Given the description of an element on the screen output the (x, y) to click on. 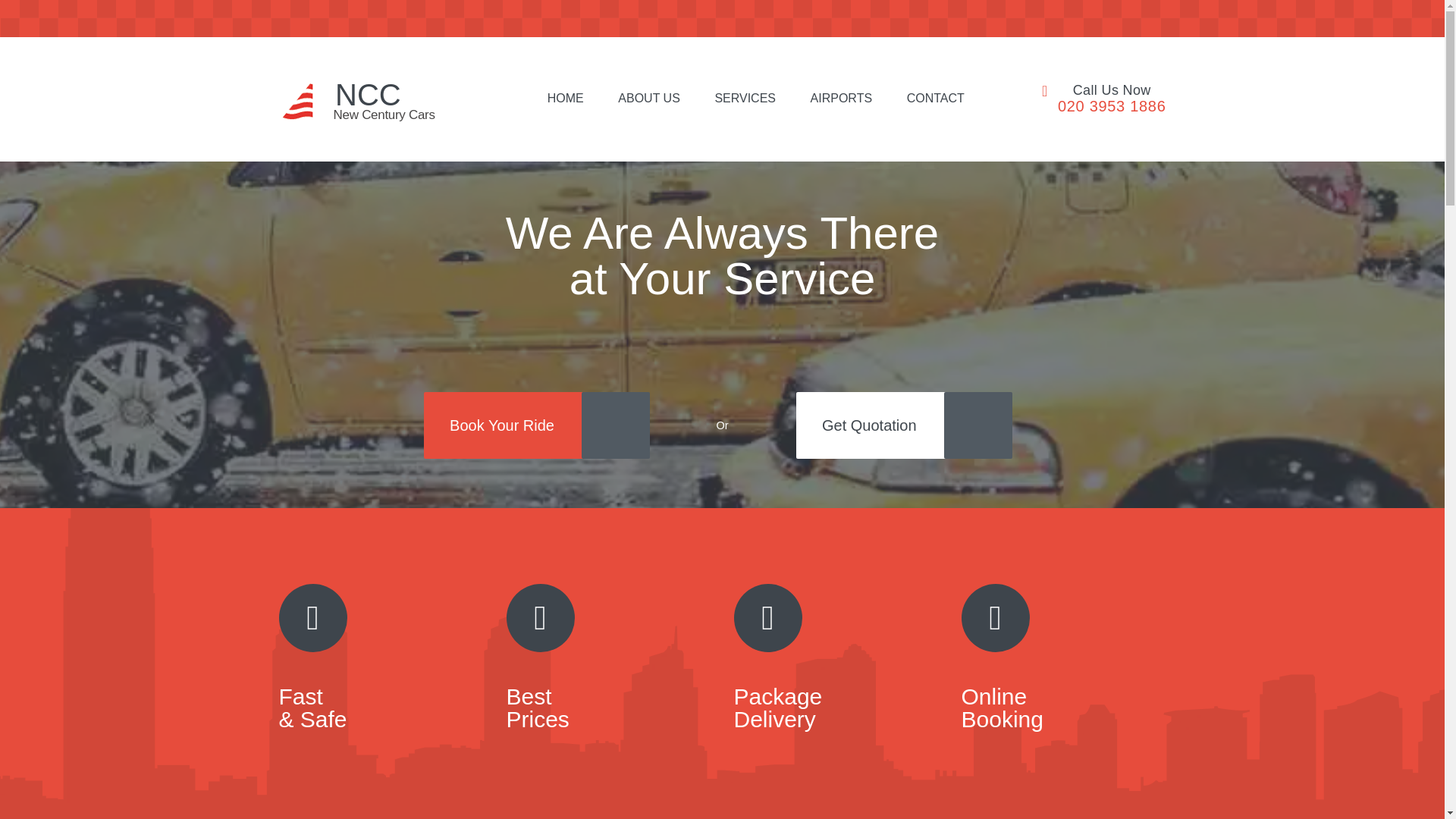
ABOUT US (648, 98)
NCC - New Century Cars, Rayners Lane Minicabs (565, 98)
NCC - New Century Cars, Rayners Lane Minicabs (648, 98)
CONTACT (935, 98)
NCC - New Century Cars, Rayners Lane Minicabs (333, 98)
SERVICES (745, 98)
020 3953 1886 (1112, 105)
AIRPORTS (841, 98)
HOME (333, 98)
